Given the description of an element on the screen output the (x, y) to click on. 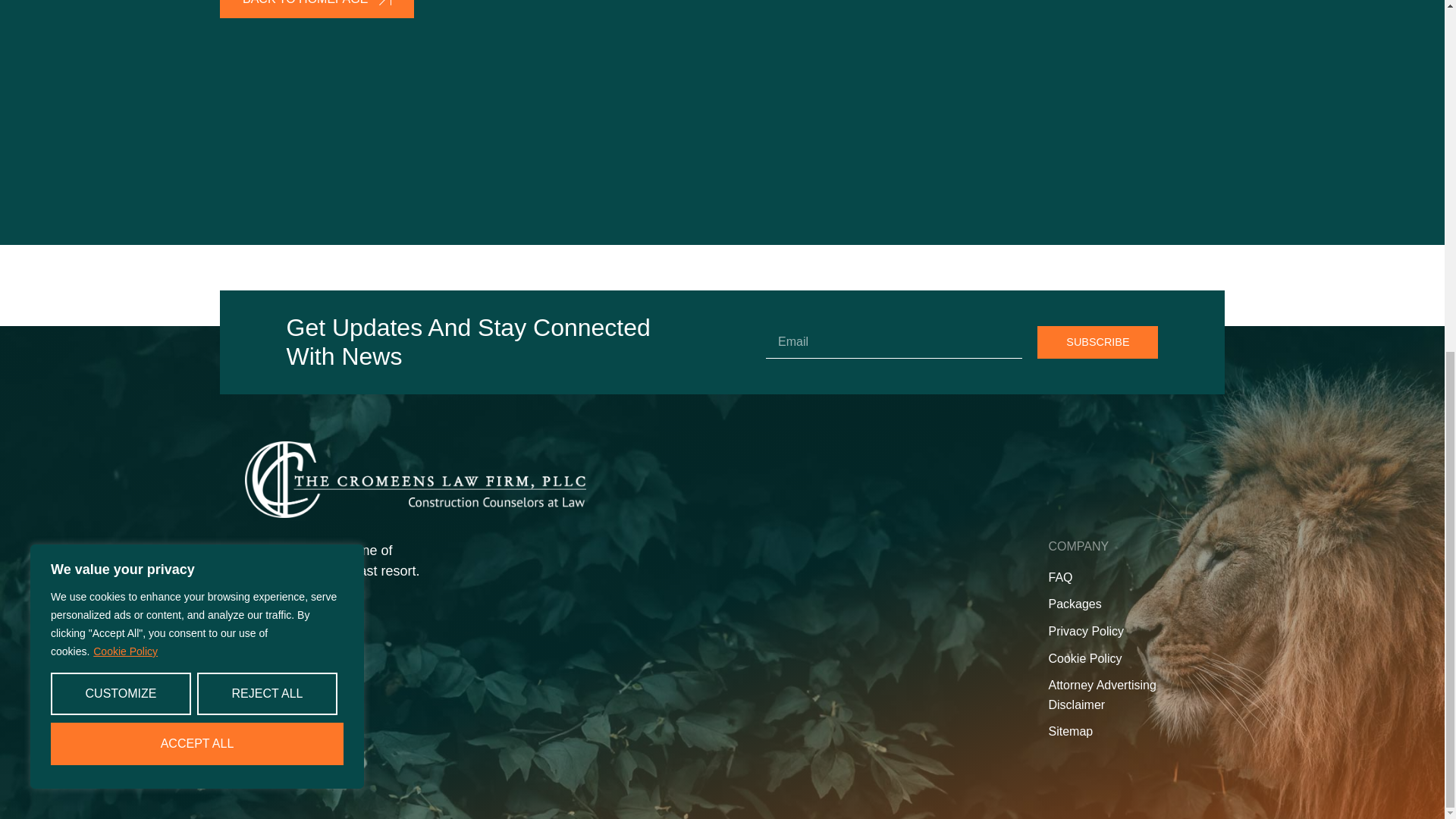
REJECT ALL (266, 80)
Cookie Policy (125, 38)
CUSTOMIZE (120, 80)
ACCEPT ALL (196, 130)
